Given the description of an element on the screen output the (x, y) to click on. 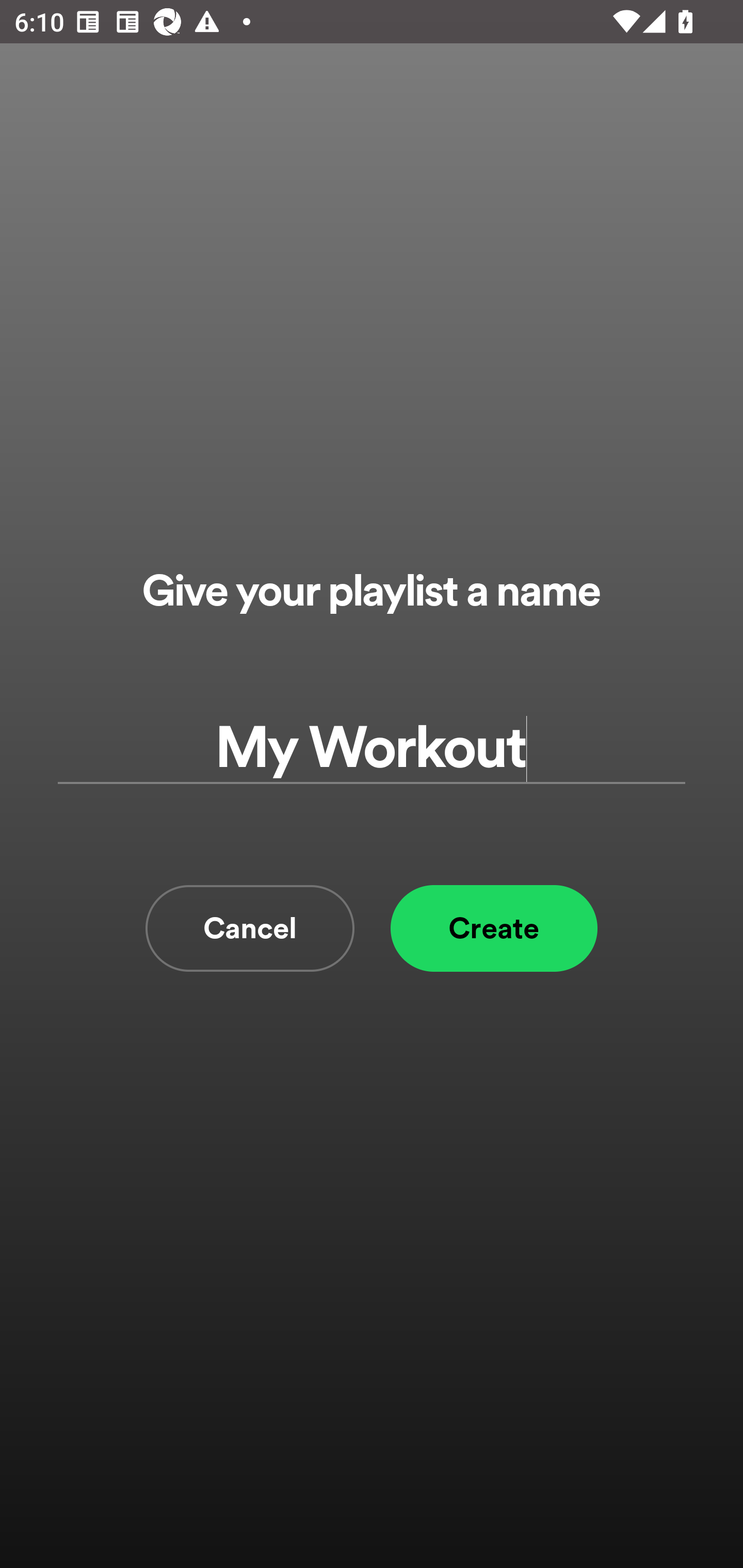
My Workout Add a playlist name (371, 749)
Cancel (249, 928)
Create (493, 928)
